Given the description of an element on the screen output the (x, y) to click on. 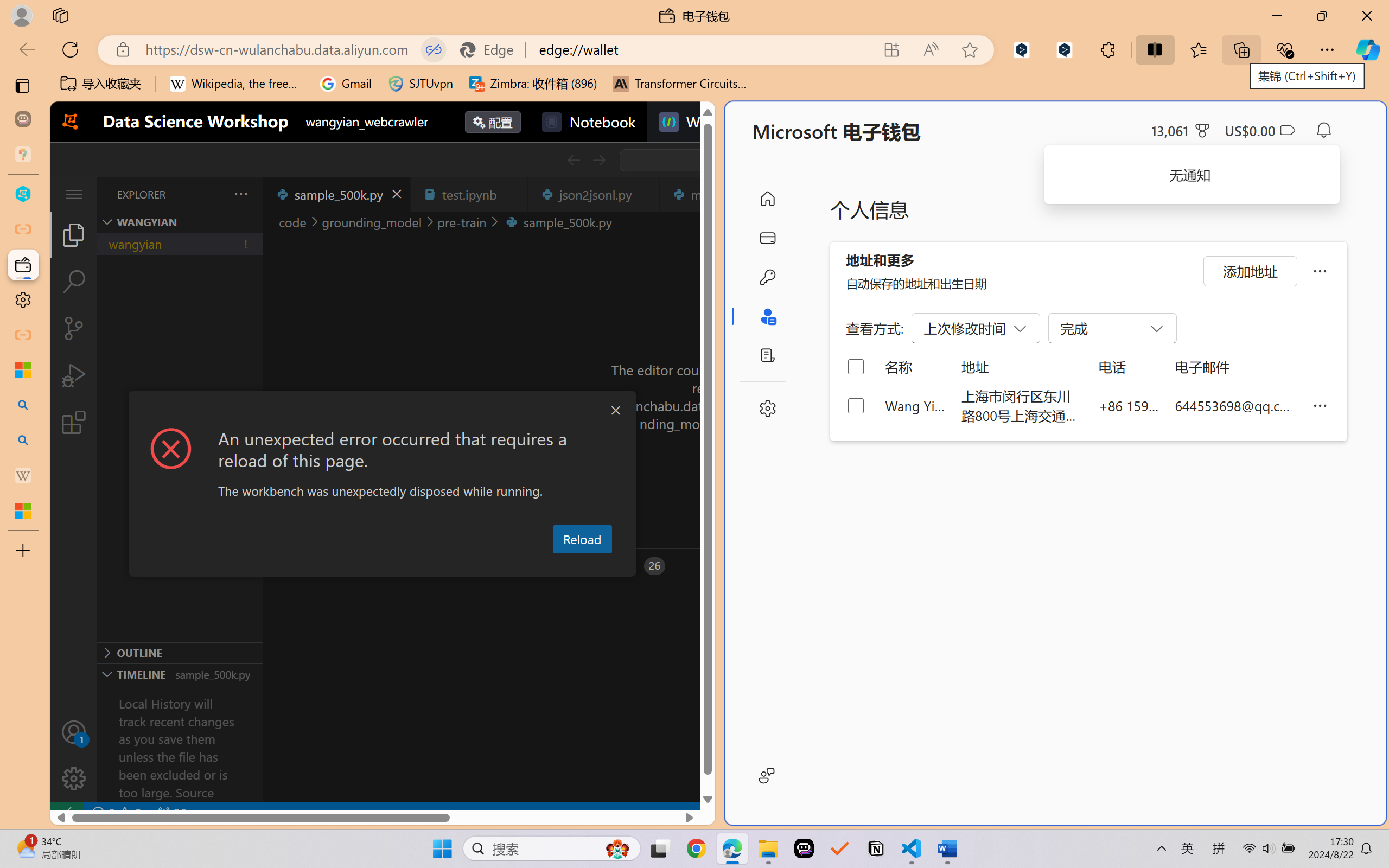
Microsoft security help and learning (22, 369)
Problems (Ctrl+Shift+M) (308, 565)
Gmail (345, 83)
Timeline Section (179, 673)
Accounts - Sign in requested (73, 732)
Search (Ctrl+Shift+F) (73, 281)
Reload (581, 538)
